Given the description of an element on the screen output the (x, y) to click on. 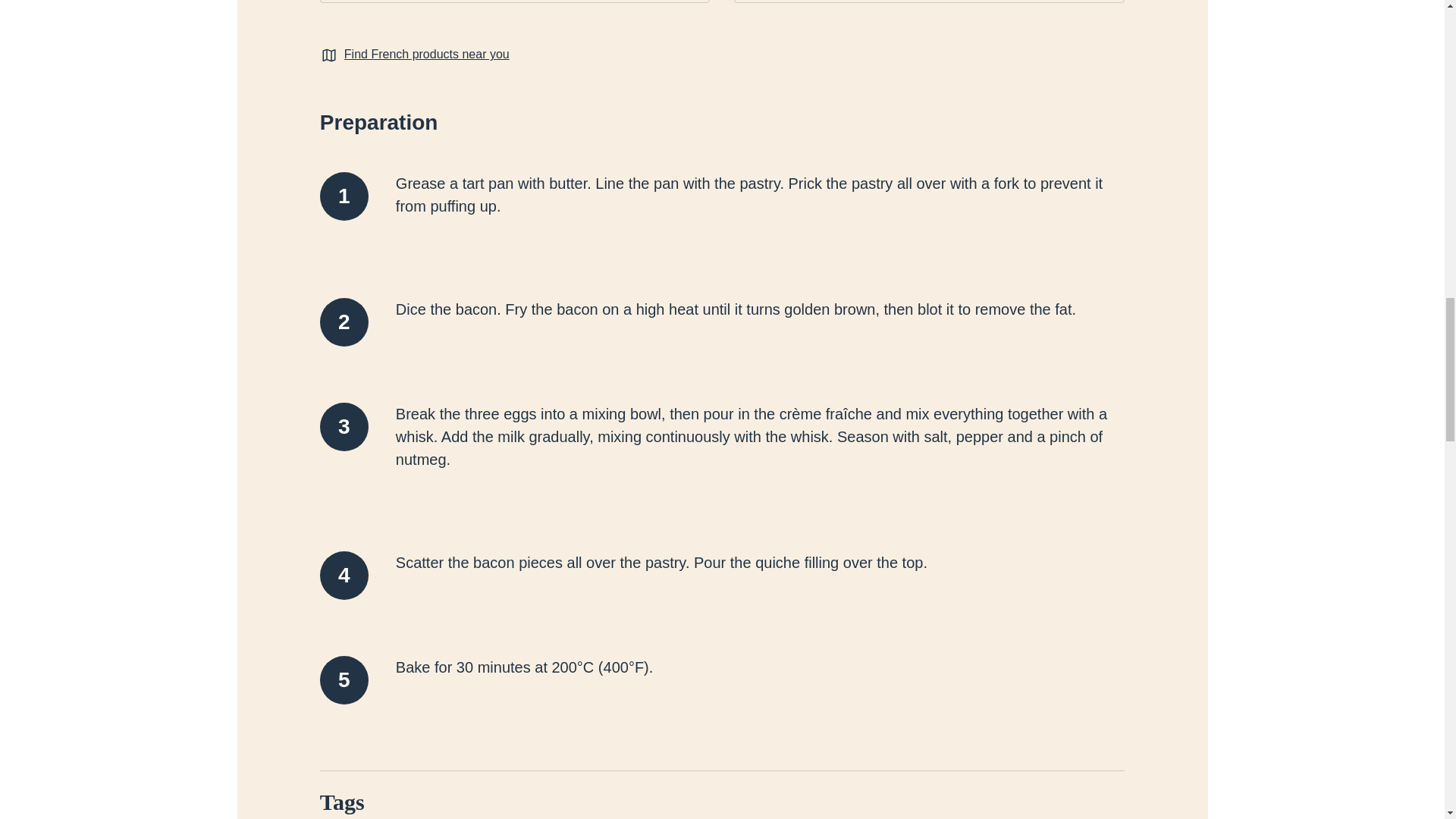
Find French products near you (426, 54)
